Given the description of an element on the screen output the (x, y) to click on. 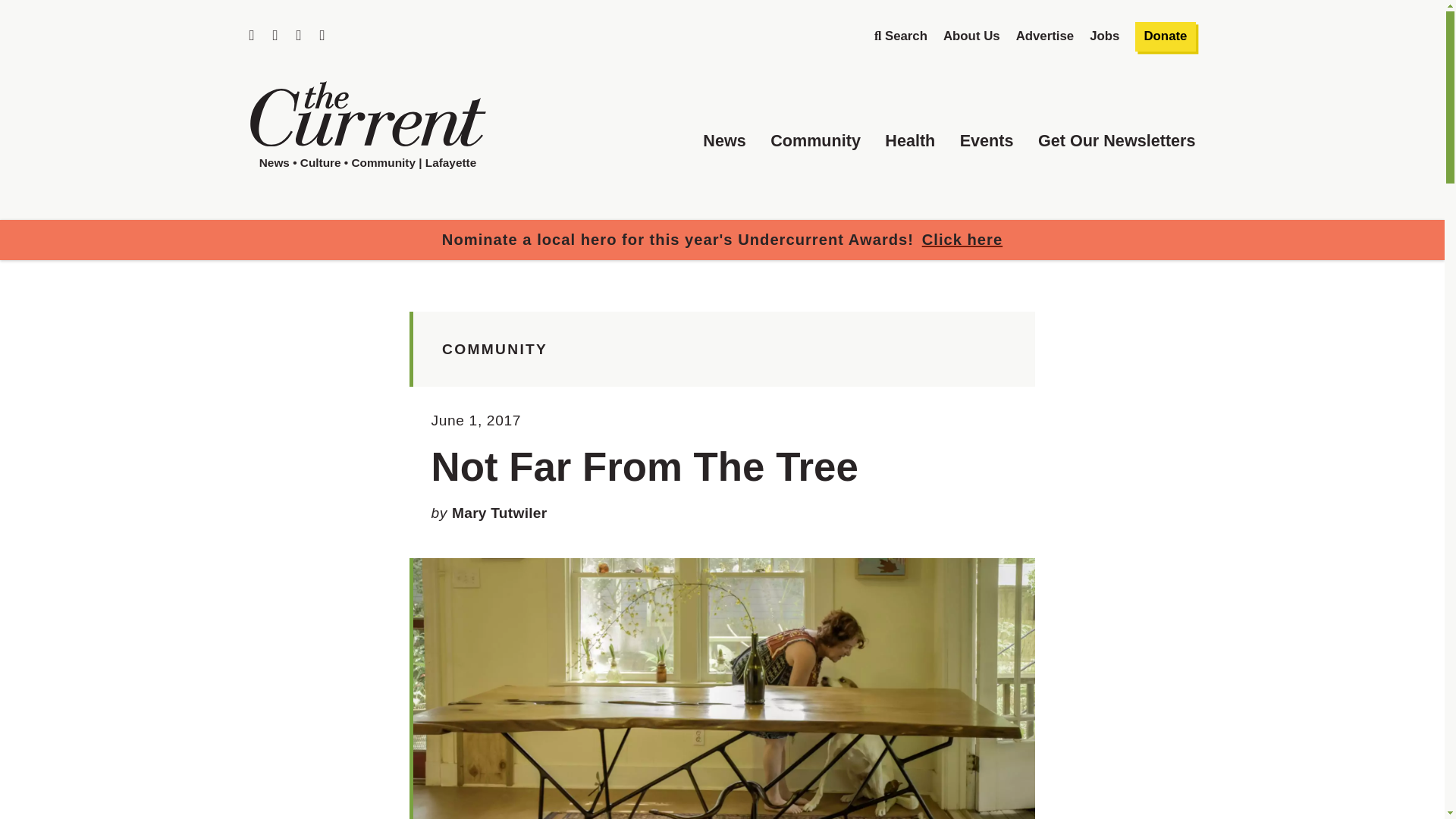
Community (815, 140)
About Us (971, 35)
Health (909, 140)
COMMUNITY (494, 349)
Advertise (1045, 35)
Get Our Newsletters (1116, 140)
News (724, 140)
Published June 1, 2017 at 11:12 am (475, 420)
Click here (962, 239)
Mary Tutwiler (499, 512)
Donate (1165, 37)
Skip to Content (280, 20)
Events (986, 140)
Jobs (1104, 35)
Search (901, 35)
